Given the description of an element on the screen output the (x, y) to click on. 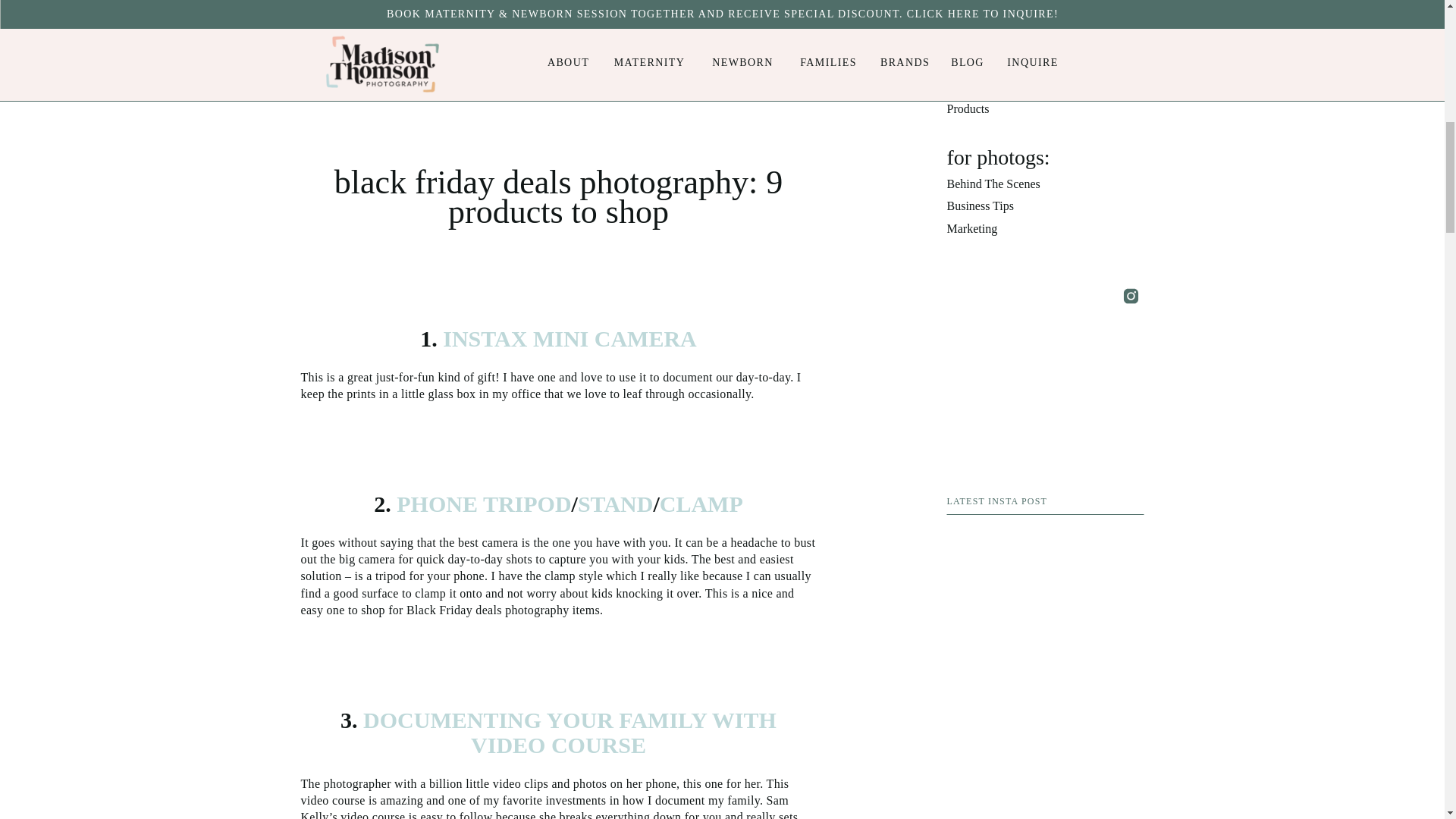
Outfit Guide (1044, 42)
LATEST INSTA POST (1044, 501)
Behind The Scenes (1044, 185)
Photo Tips (1044, 20)
Products (1044, 109)
INSTAX MINI CAMERA (567, 338)
DOCUMENTING YOUR FAMILY WITH VIDEO COURSE (567, 732)
CLAMP (700, 503)
Shop Local (1044, 86)
Business Tips (1044, 207)
Marketing (1044, 229)
PHONE TRIPOD (483, 503)
Gift Guide (1044, 65)
STAND (615, 503)
